Given the description of an element on the screen output the (x, y) to click on. 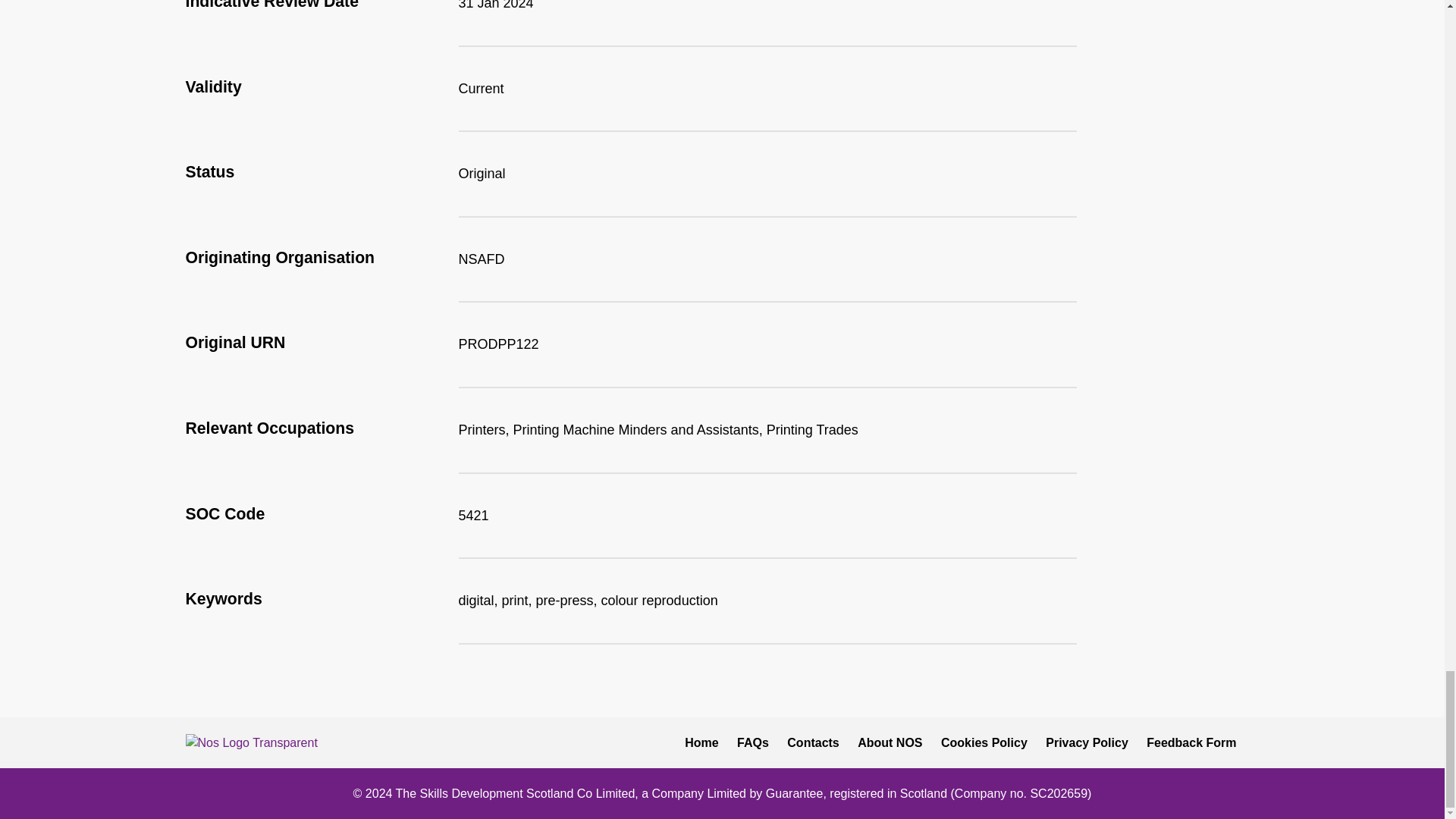
About NOS (890, 742)
Privacy Policy (1086, 742)
FAQs (752, 742)
Cookies Policy (984, 742)
Feedback Form (1190, 742)
Contacts (811, 742)
Home (701, 742)
